Given the description of an element on the screen output the (x, y) to click on. 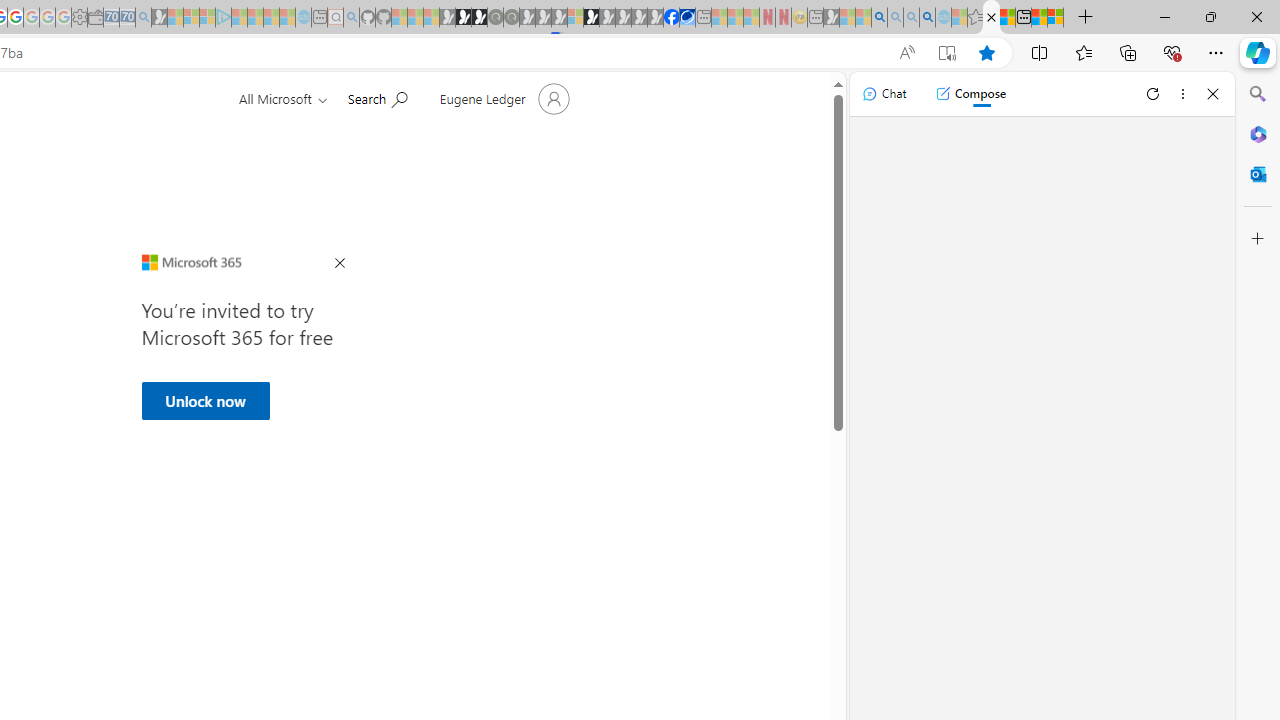
Bing AI - Search (879, 17)
Play Zoo Boom in your browser | Games from Microsoft Start (463, 17)
Chat (884, 93)
Sign in to your account - Sleeping (575, 17)
